Given the description of an element on the screen output the (x, y) to click on. 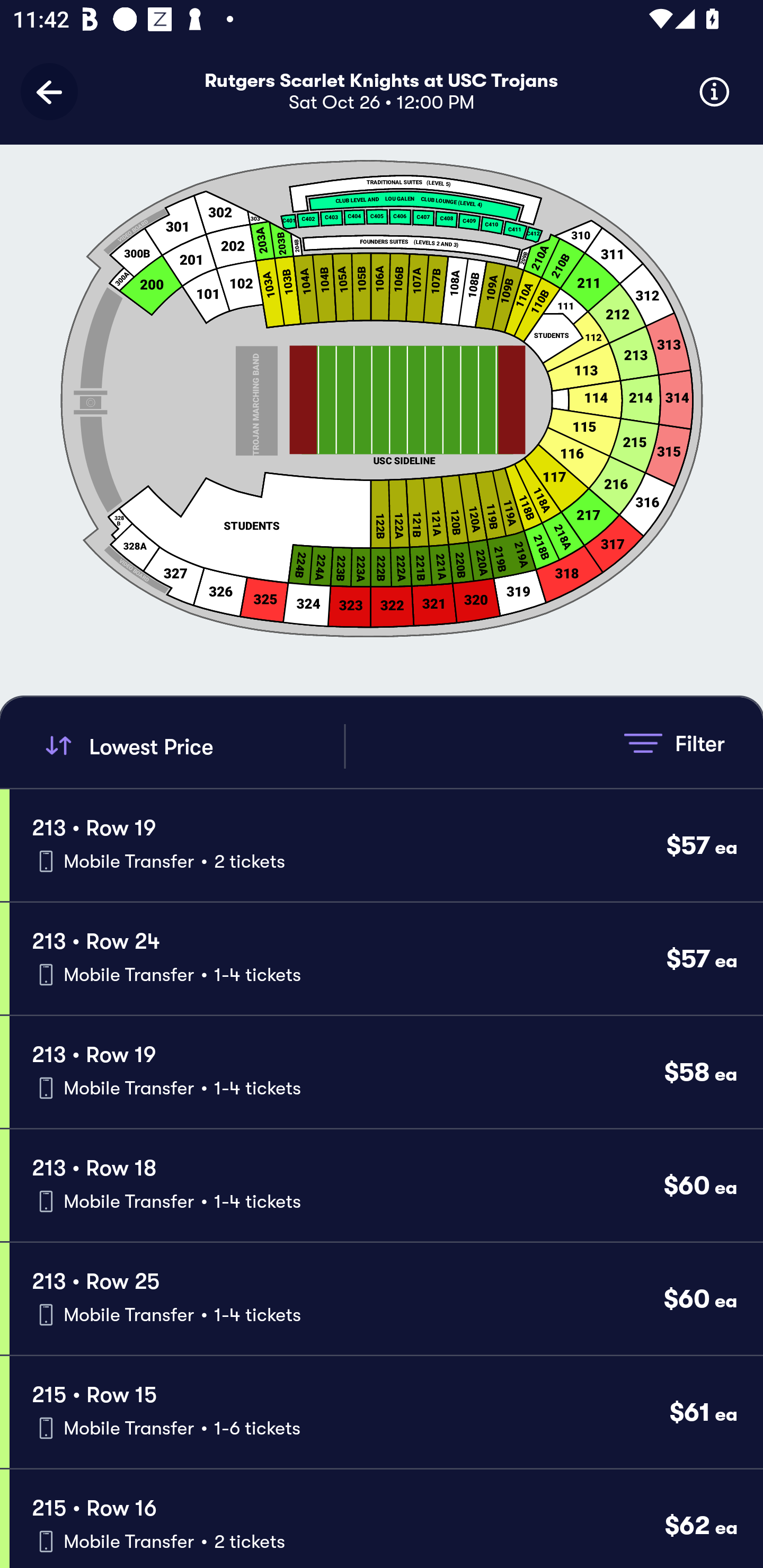
Lowest Price (191, 746)
Filter (674, 743)
213 • Row 19 Mobile Transfer • 2 tickets $57 ea (386, 844)
213 • Row 24 Mobile Transfer • 1-4 tickets $57 ea (386, 958)
213 • Row 19 Mobile Transfer • 1-4 tickets $58 ea (386, 1071)
213 • Row 18 Mobile Transfer • 1-4 tickets $60 ea (386, 1184)
213 • Row 25 Mobile Transfer • 1-4 tickets $60 ea (386, 1298)
215 • Row 15 Mobile Transfer • 1-6 tickets $61 ea (386, 1411)
215 • Row 16 Mobile Transfer • 2 tickets $62 ea (386, 1518)
